Given the description of an element on the screen output the (x, y) to click on. 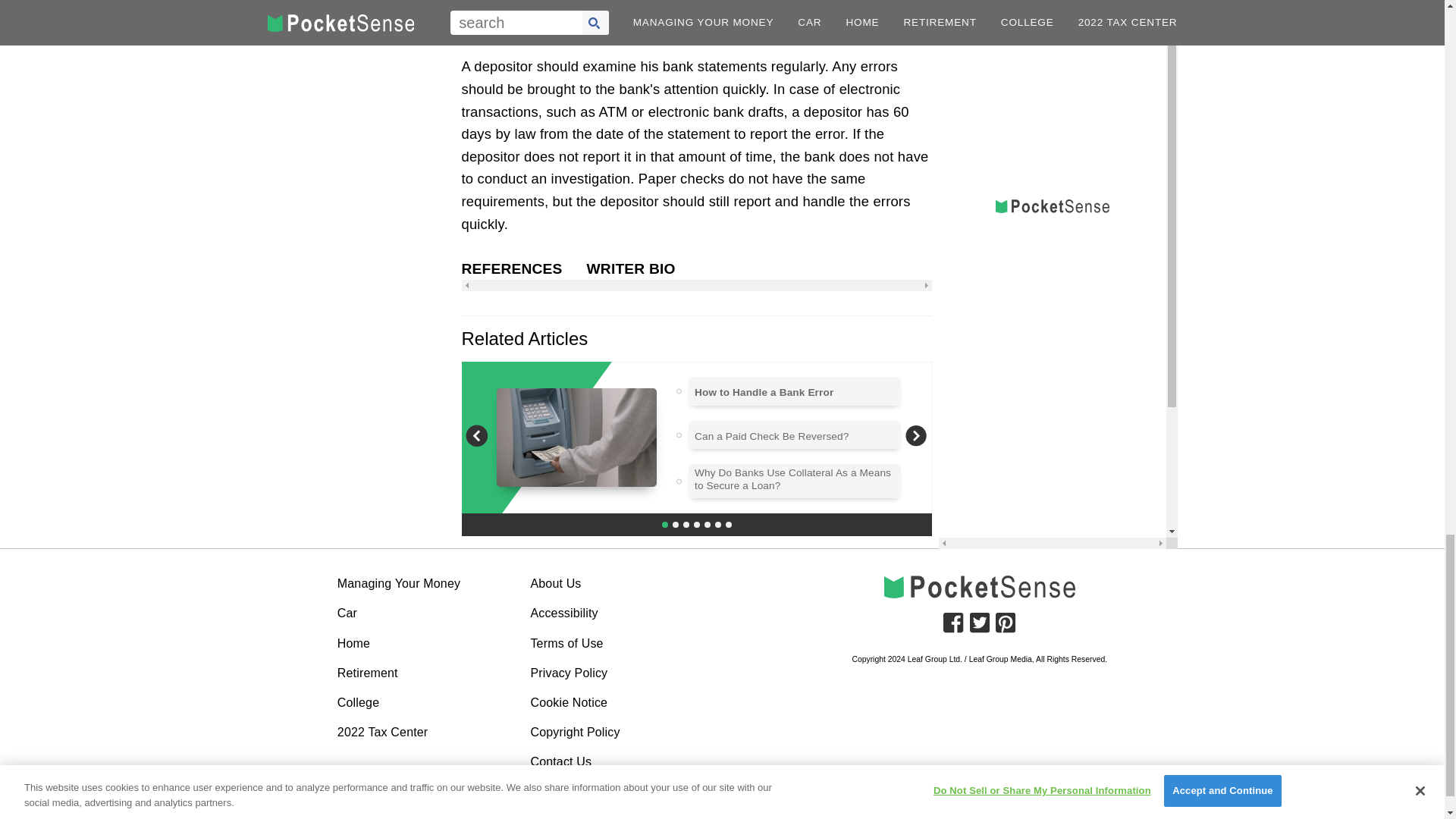
How to Handle a Bank Error (763, 392)
Why Do Banks Use Collateral As a Means to Secure a Loan? (794, 479)
Can a Paid Check Be Reversed? (771, 436)
